Given the description of an element on the screen output the (x, y) to click on. 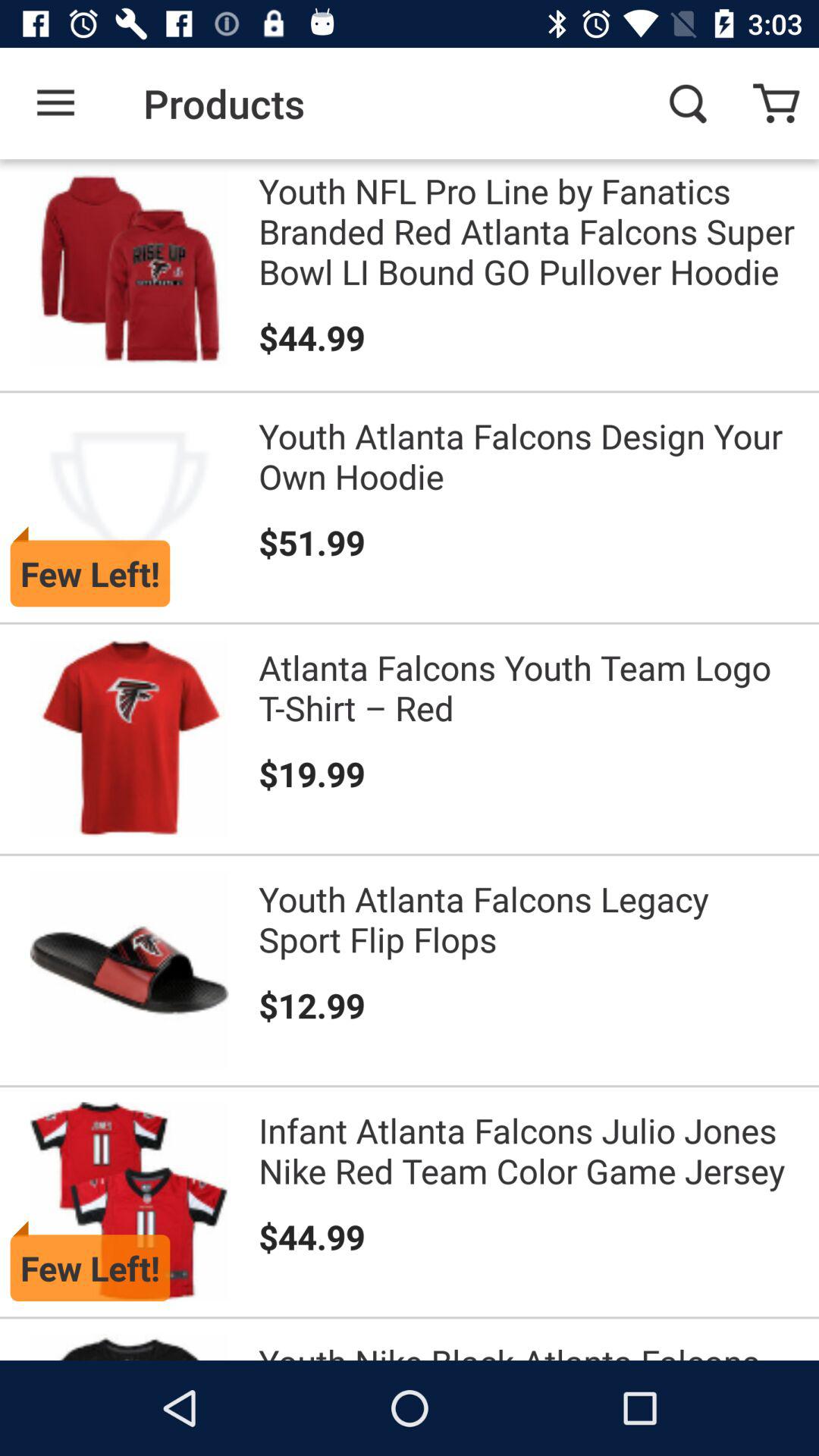
turn off the item above the youth nfl pro item (687, 103)
